Given the description of an element on the screen output the (x, y) to click on. 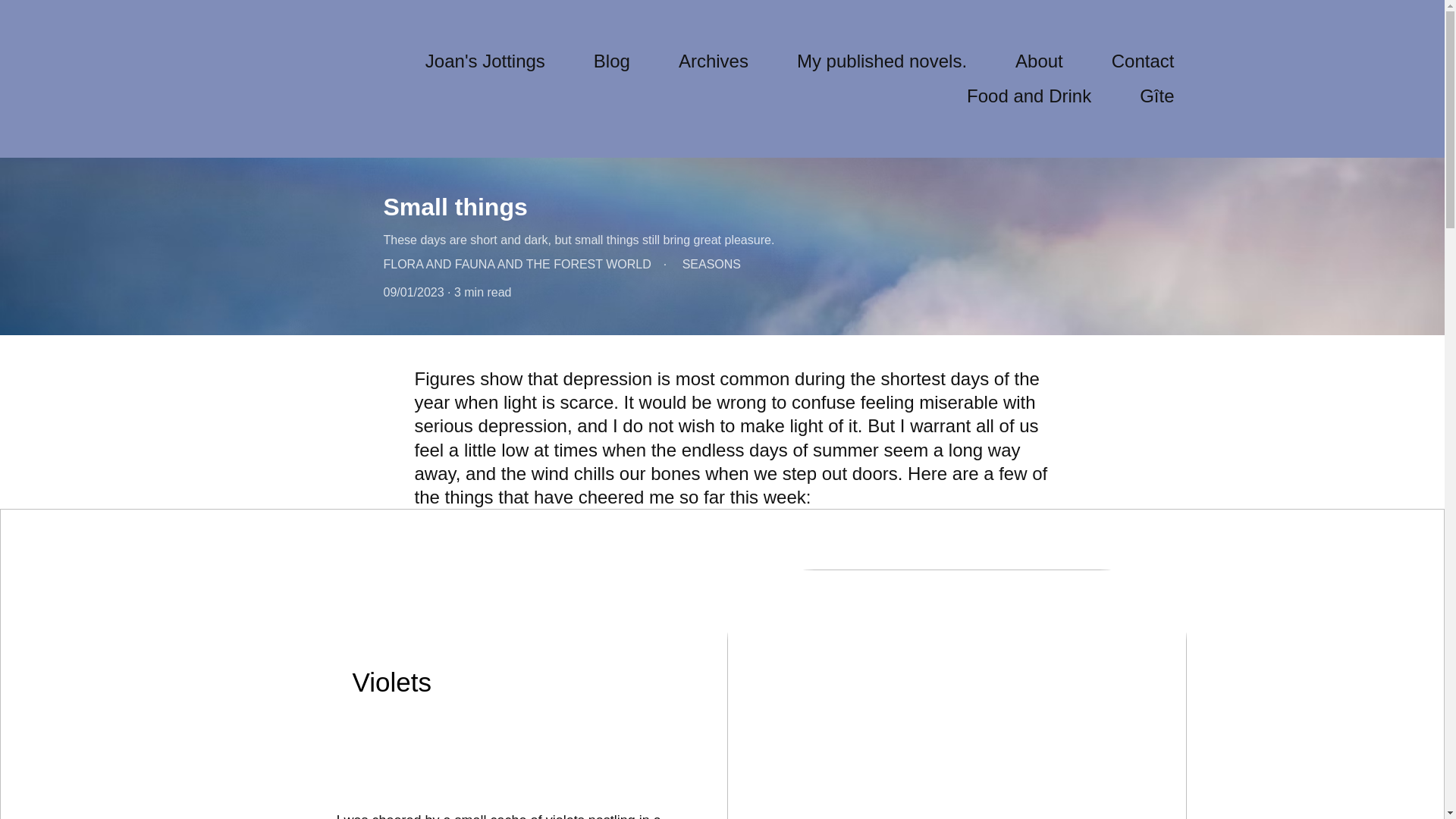
About (1038, 60)
My published novels. (881, 60)
Contact (1143, 60)
Archives (713, 60)
Blog (612, 60)
Joan's Jottings (484, 60)
Food and Drink (1028, 96)
